Given the description of an element on the screen output the (x, y) to click on. 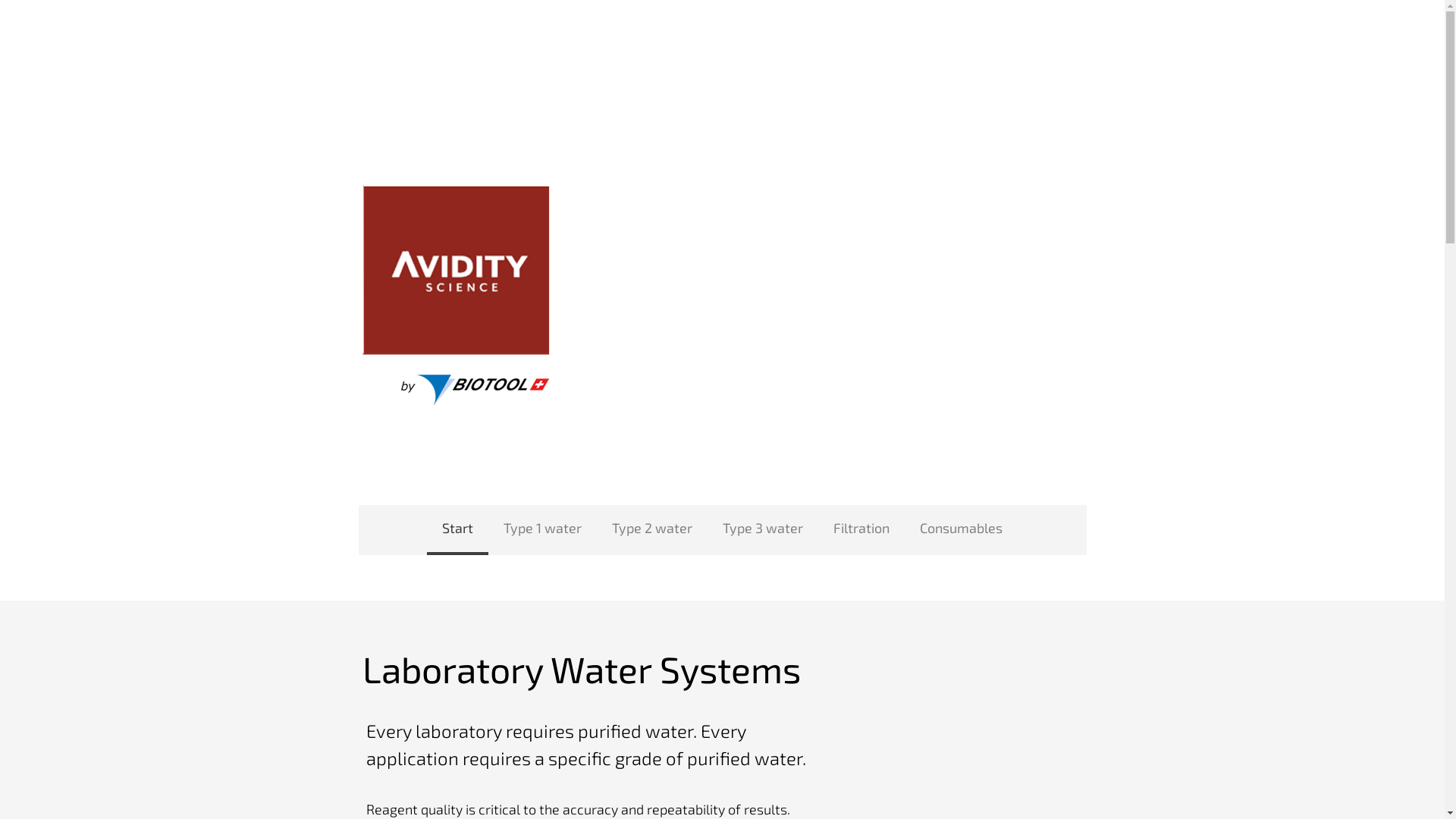
Type 1 water Element type: text (542, 530)
Type 3 water Element type: text (762, 530)
Type 2 water Element type: text (651, 530)
Consumables Element type: text (960, 530)
Start Element type: text (457, 530)
Filtration Element type: text (861, 530)
